Given the description of an element on the screen output the (x, y) to click on. 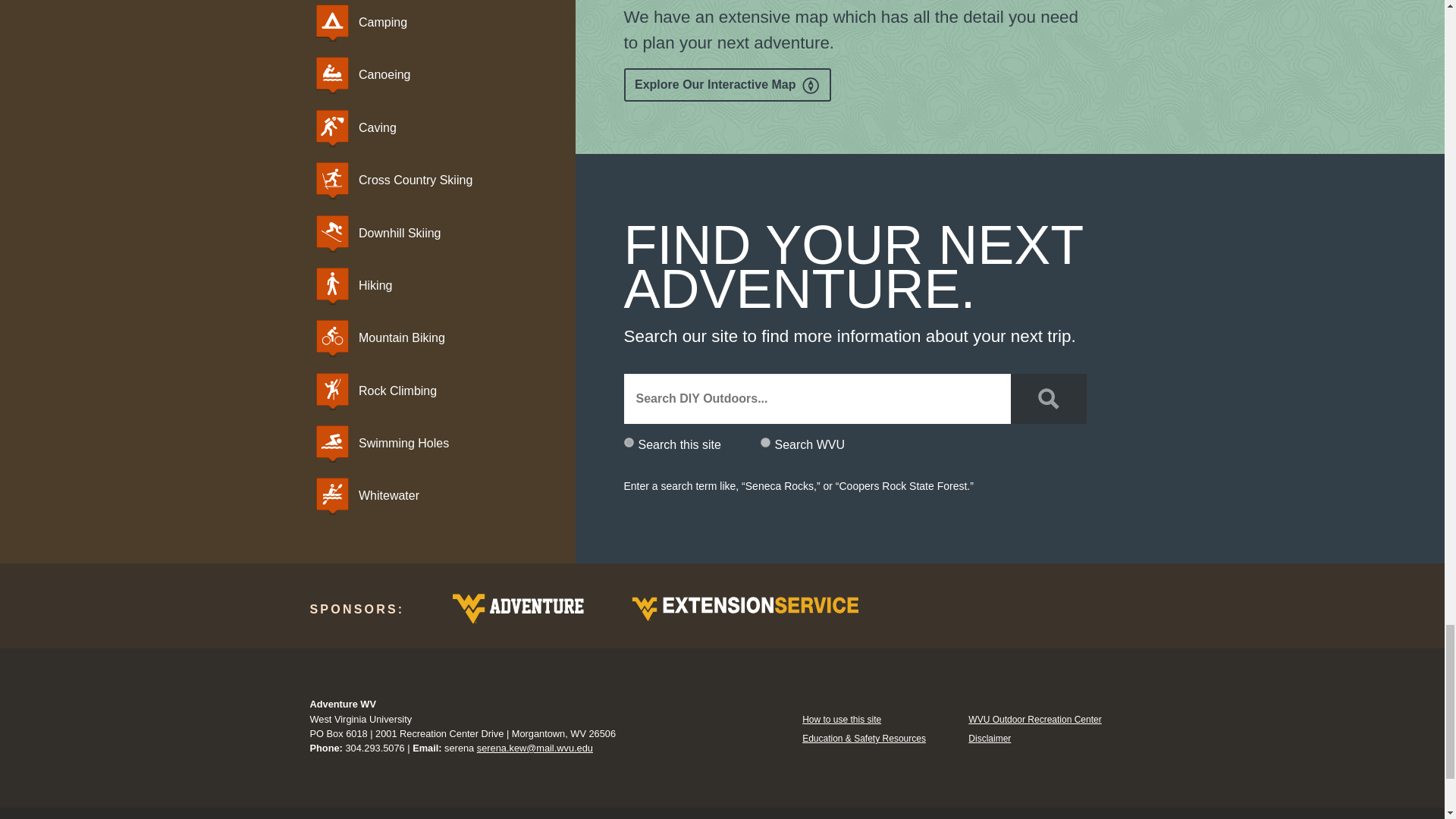
diyoutdoors.wvu.edu (628, 442)
Search (1048, 398)
wvu.edu (765, 442)
wvu.edu (765, 442)
diyoutdoors.wvu.edu (628, 442)
Search (1048, 398)
